Given the description of an element on the screen output the (x, y) to click on. 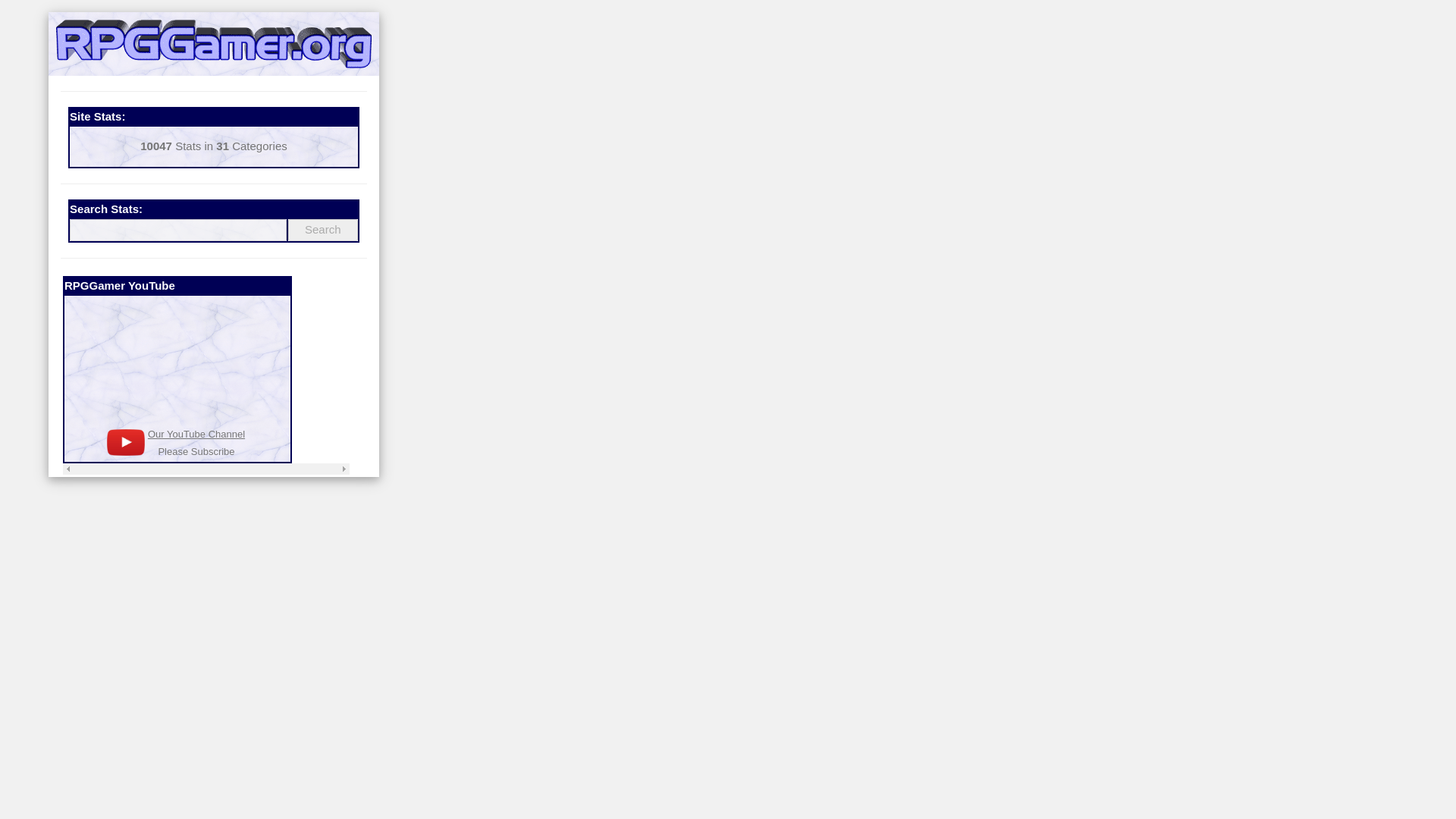
Search (323, 229)
Our YouTube Channel (196, 433)
Search (323, 229)
